Given the description of an element on the screen output the (x, y) to click on. 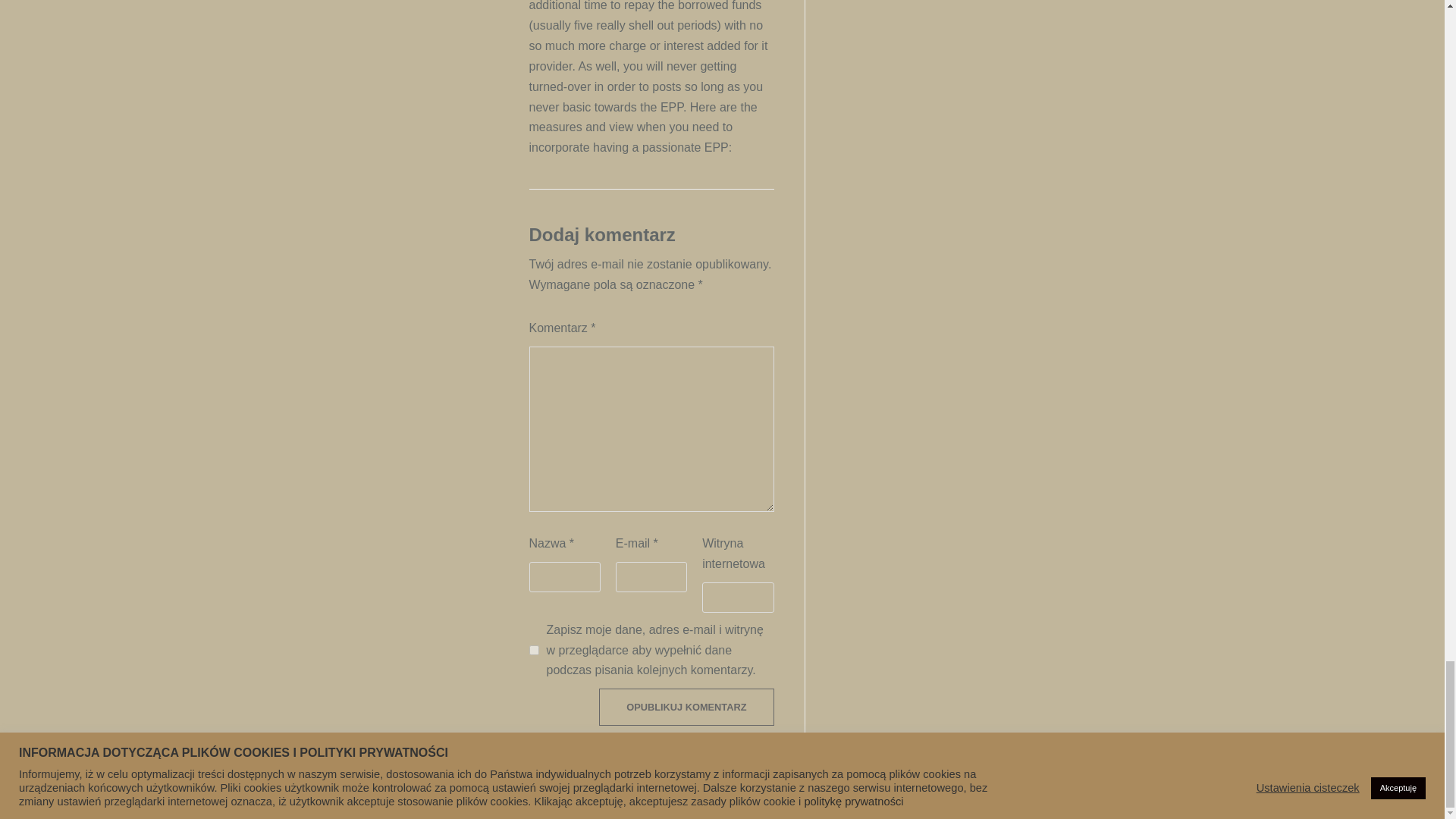
Opublikuj komentarz (685, 706)
Opublikuj komentarz (685, 706)
yes (533, 650)
